Given the description of an element on the screen output the (x, y) to click on. 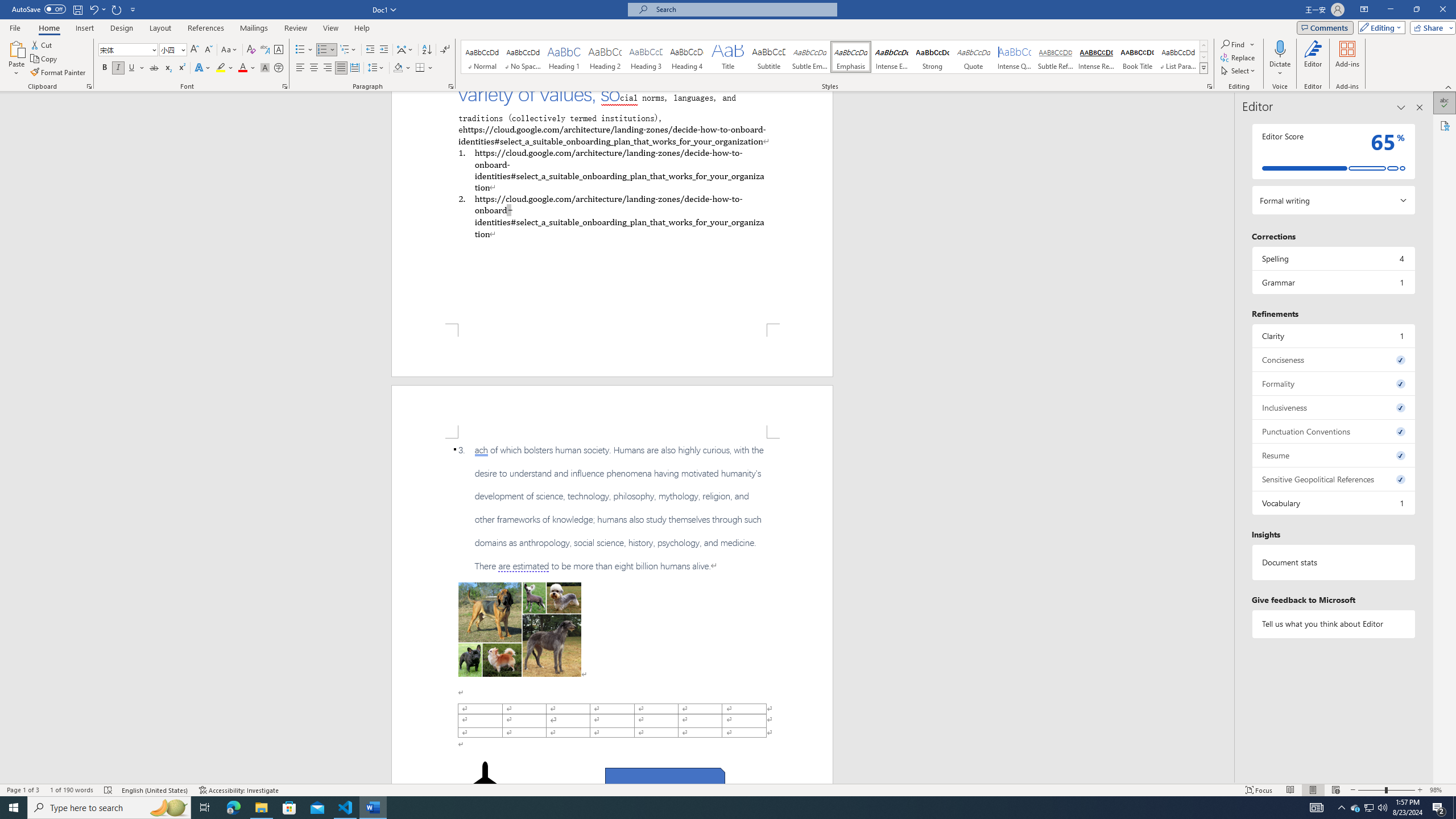
Font Color Automatic (241, 67)
Airplane with solid fill (485, 783)
